Given the description of an element on the screen output the (x, y) to click on. 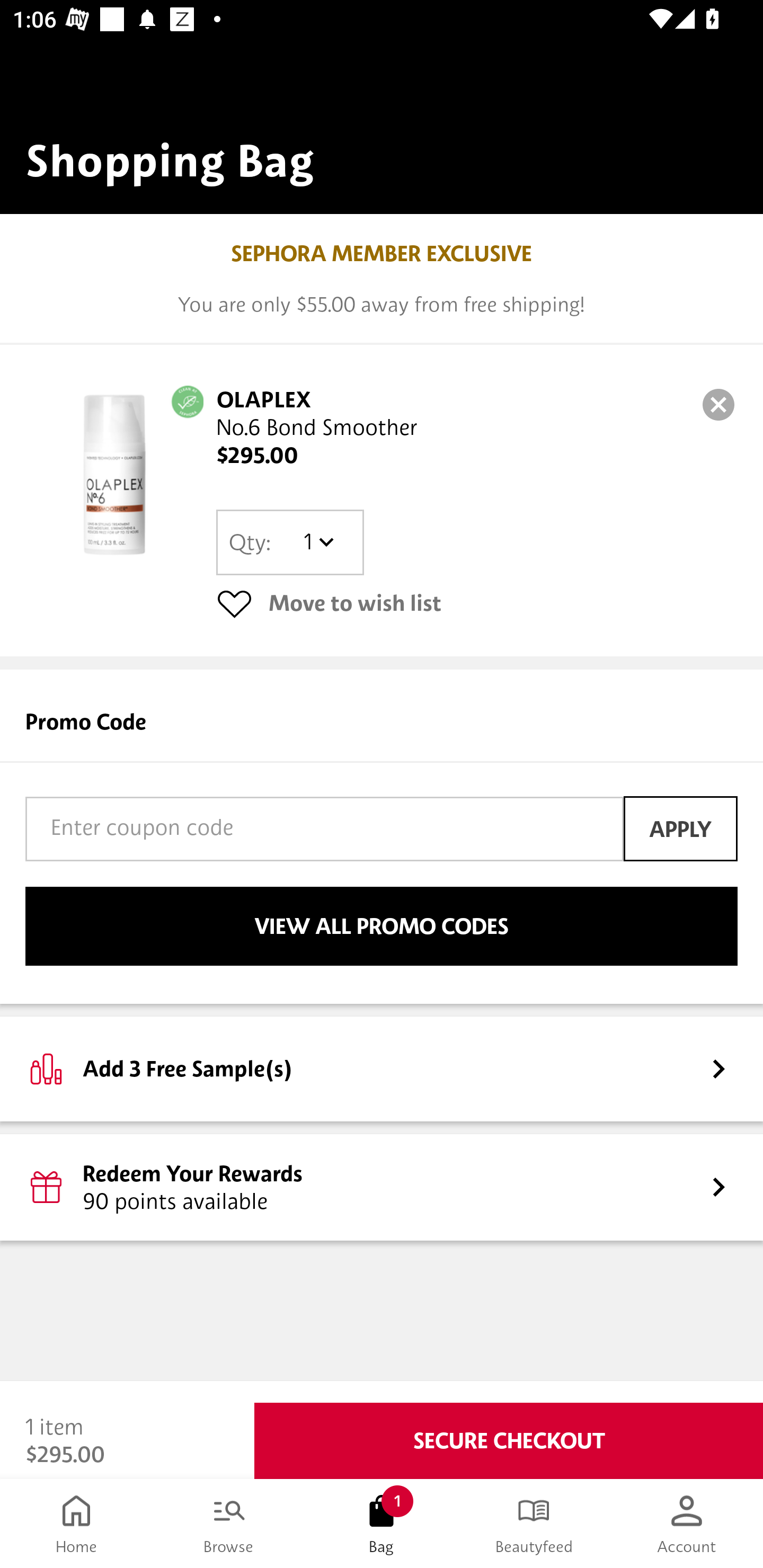
1 (317, 542)
Move to wish list (476, 602)
APPLY (680, 828)
Enter coupon code (324, 828)
VIEW ALL PROMO CODES (381, 926)
Add 3 Free Sample(s) (381, 1068)
Redeem Your Rewards 90 points available (381, 1186)
SECURE CHECKOUT (508, 1440)
Home (76, 1523)
Browse (228, 1523)
Beautyfeed (533, 1523)
Account (686, 1523)
